Given the description of an element on the screen output the (x, y) to click on. 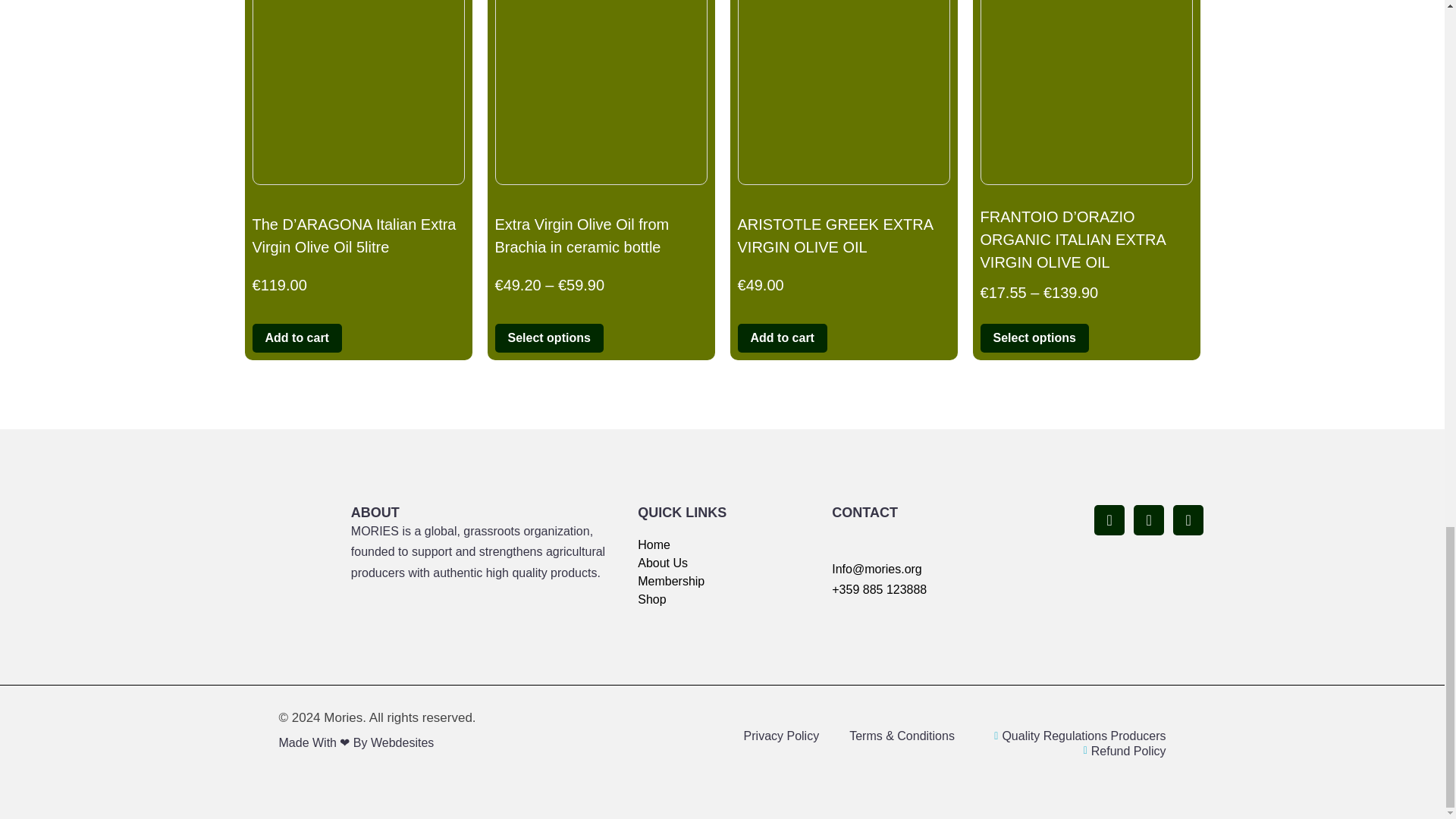
Add to cart (781, 337)
Home (728, 545)
Membership (728, 581)
ARISTOTLE GREEK EXTRA VIRGIN OLIVE OIL (842, 235)
Shop (728, 599)
Extra Virgin Olive Oil from Brachia in ceramic bottle (600, 235)
Select options (548, 337)
Select options (1033, 337)
Add to cart (295, 337)
About Us (728, 563)
